Given the description of an element on the screen output the (x, y) to click on. 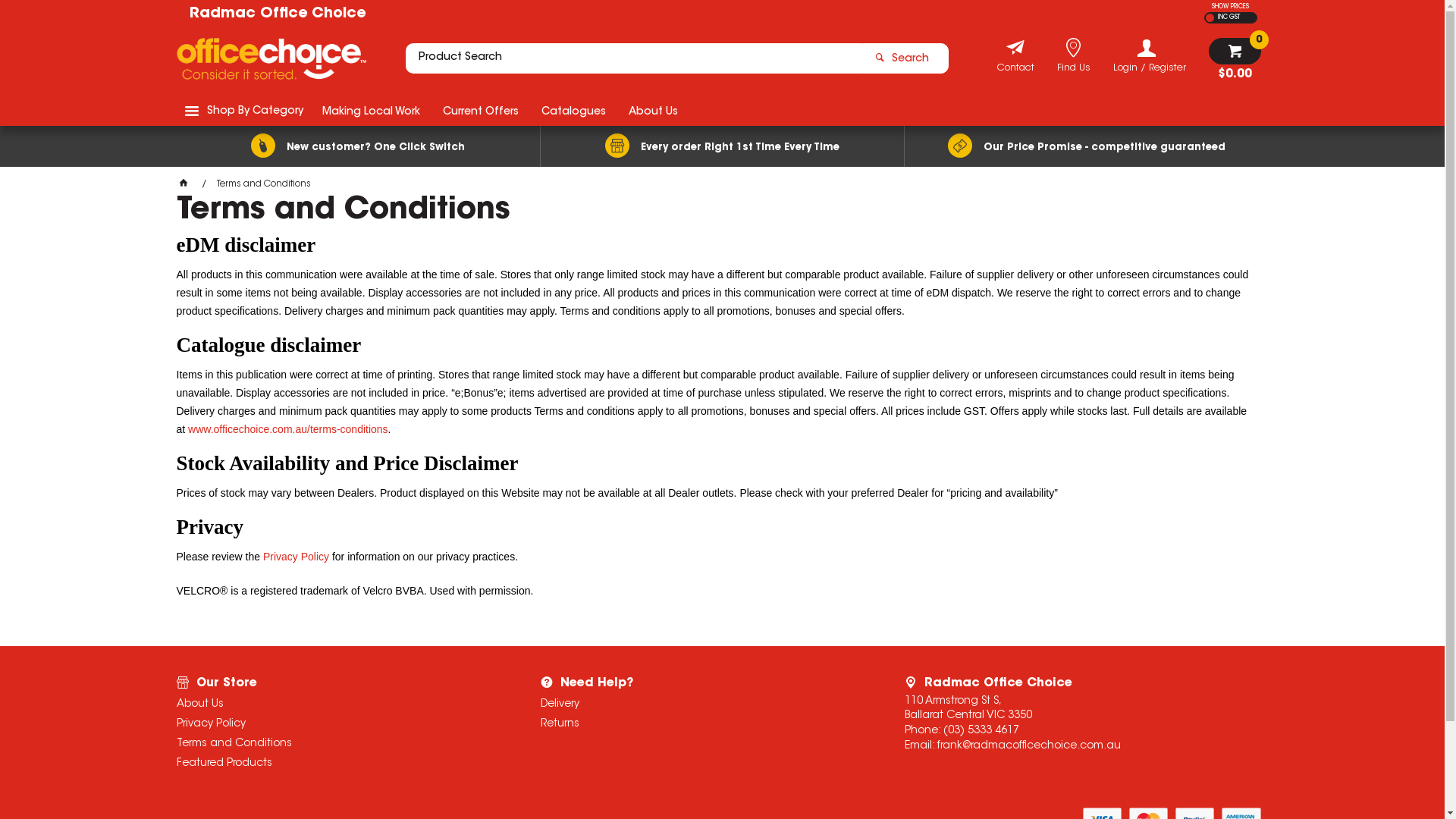
Privacy Policy Element type: text (337, 724)
Delivery Element type: text (701, 704)
Making Local Work Element type: text (370, 110)
Returns Element type: text (701, 724)
Catalogues Element type: text (572, 110)
INC GST Element type: text (1226, 17)
About Us Element type: text (337, 704)
Privacy Policy Element type: text (296, 556)
(03) 5333 4617 Element type: text (981, 730)
Search Element type: text (904, 58)
New customer? One Click Switch Element type: text (357, 145)
EX GST Element type: text (1209, 17)
Our Price Promise - competitive guaranteed Element type: text (1085, 145)
Login / Register Element type: text (1149, 55)
About Us Element type: text (653, 110)
Every order Right 1st Time Every Time Element type: text (721, 145)
Find Us Element type: text (1073, 69)
www.officechoice.com.au/terms-conditions Element type: text (288, 429)
Terms and Conditions Element type: text (337, 743)
Current Offers Element type: text (479, 110)
Featured Products Element type: text (337, 763)
frank@radmacofficechoice.com.au Element type: text (1028, 745)
$0.00
0 Element type: text (1234, 59)
Contact Element type: text (1014, 69)
